Given the description of an element on the screen output the (x, y) to click on. 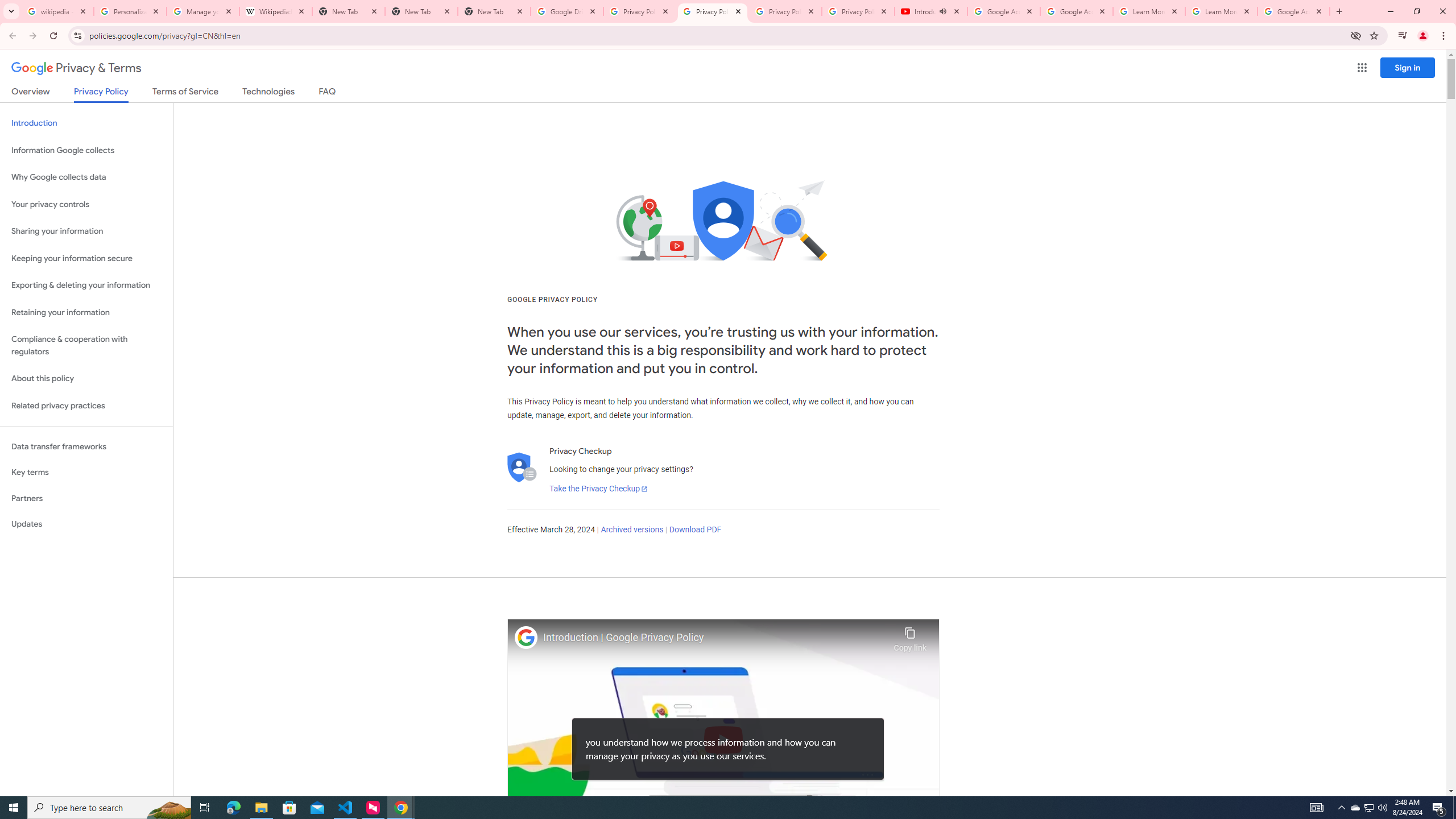
Copy link (909, 636)
Play (723, 739)
Related privacy practices (86, 405)
